Given the description of an element on the screen output the (x, y) to click on. 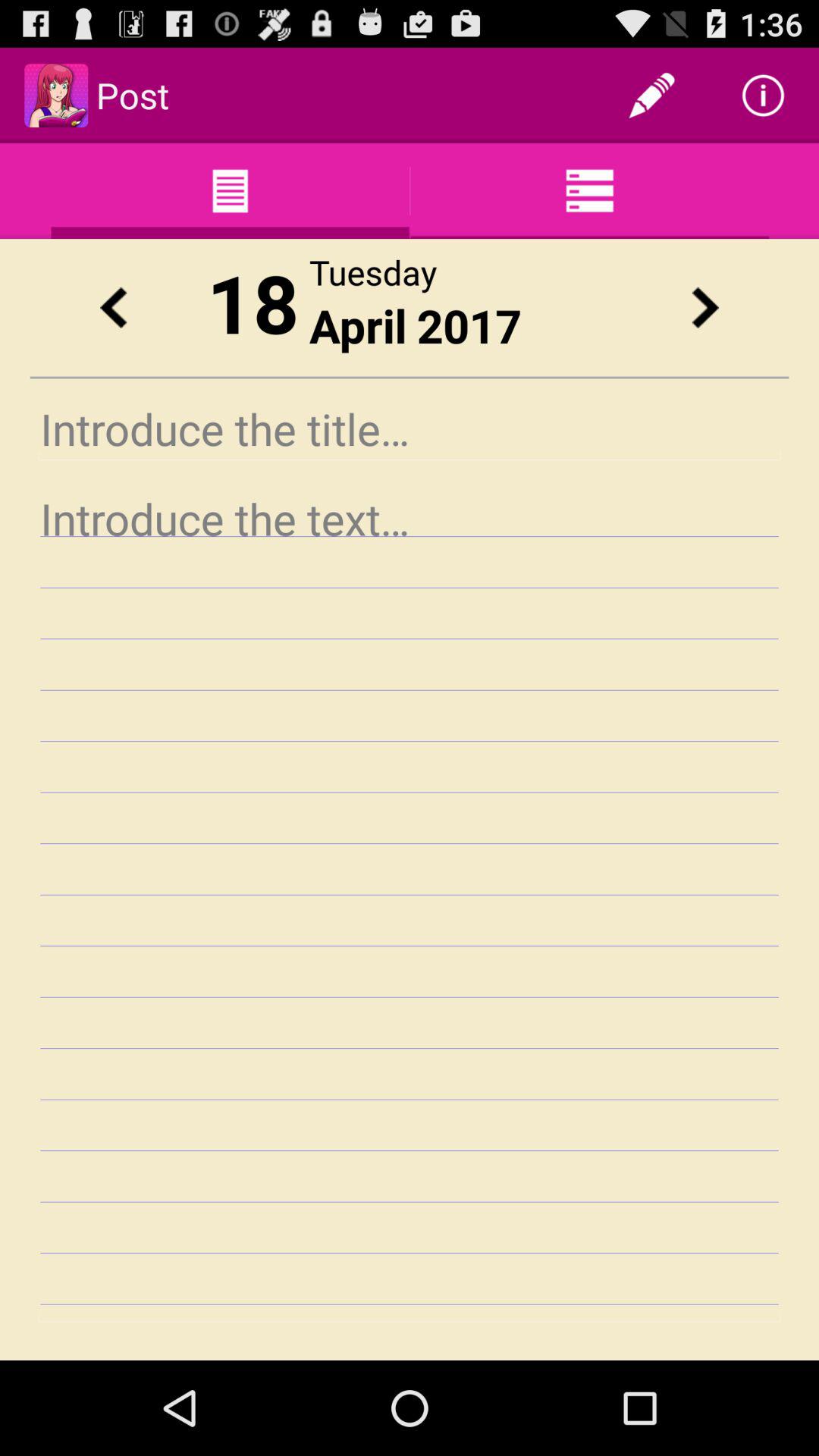
title tab (409, 428)
